Given the description of an element on the screen output the (x, y) to click on. 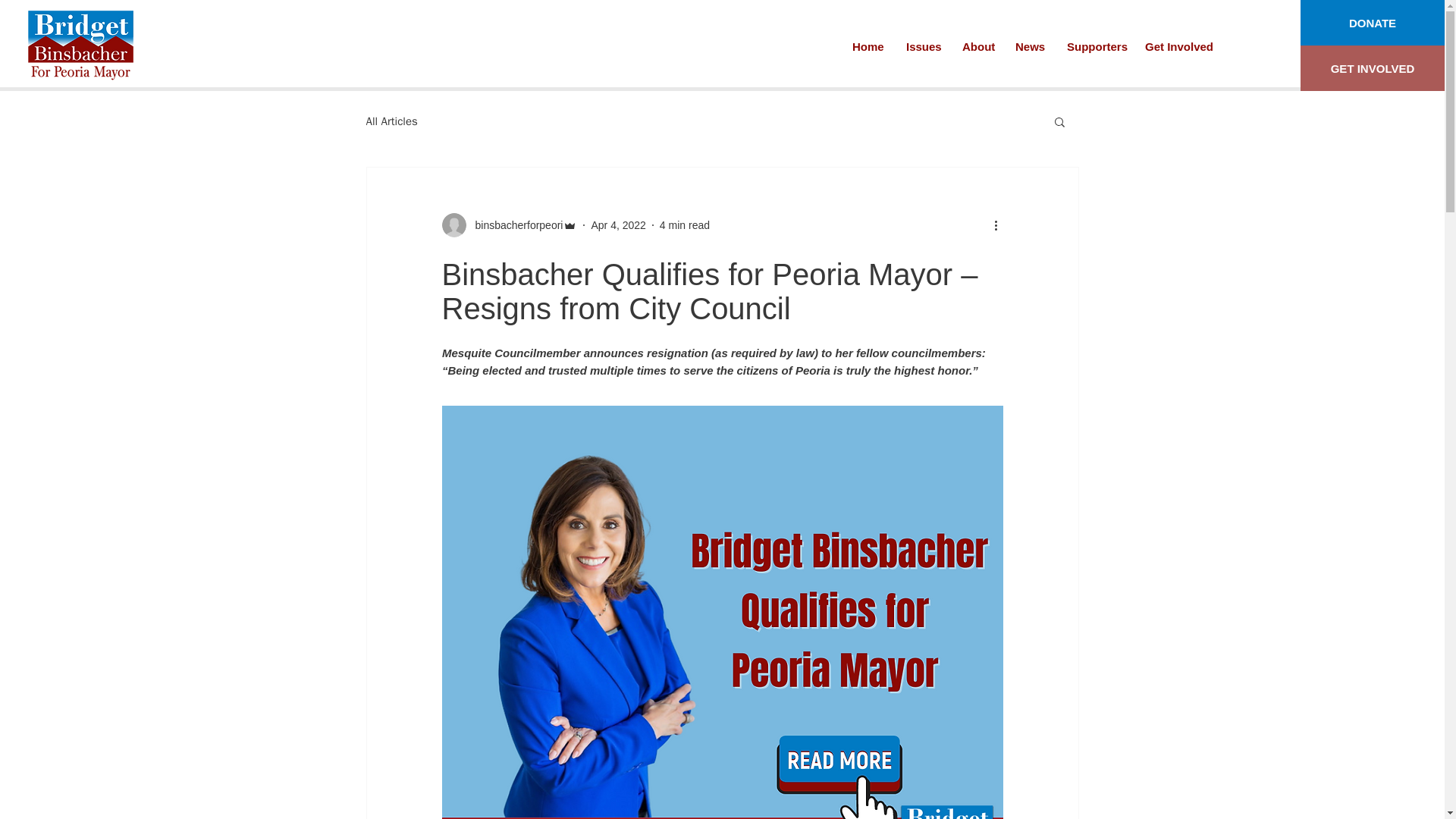
Supporters (1094, 46)
News (1029, 46)
Apr 4, 2022 (618, 224)
binsbacherforpeori (513, 224)
binsbacherforpeori (508, 224)
Get Involved (1176, 46)
About (977, 46)
4 min read (684, 224)
Issues (922, 46)
Home (868, 46)
All Articles (390, 120)
